Given the description of an element on the screen output the (x, y) to click on. 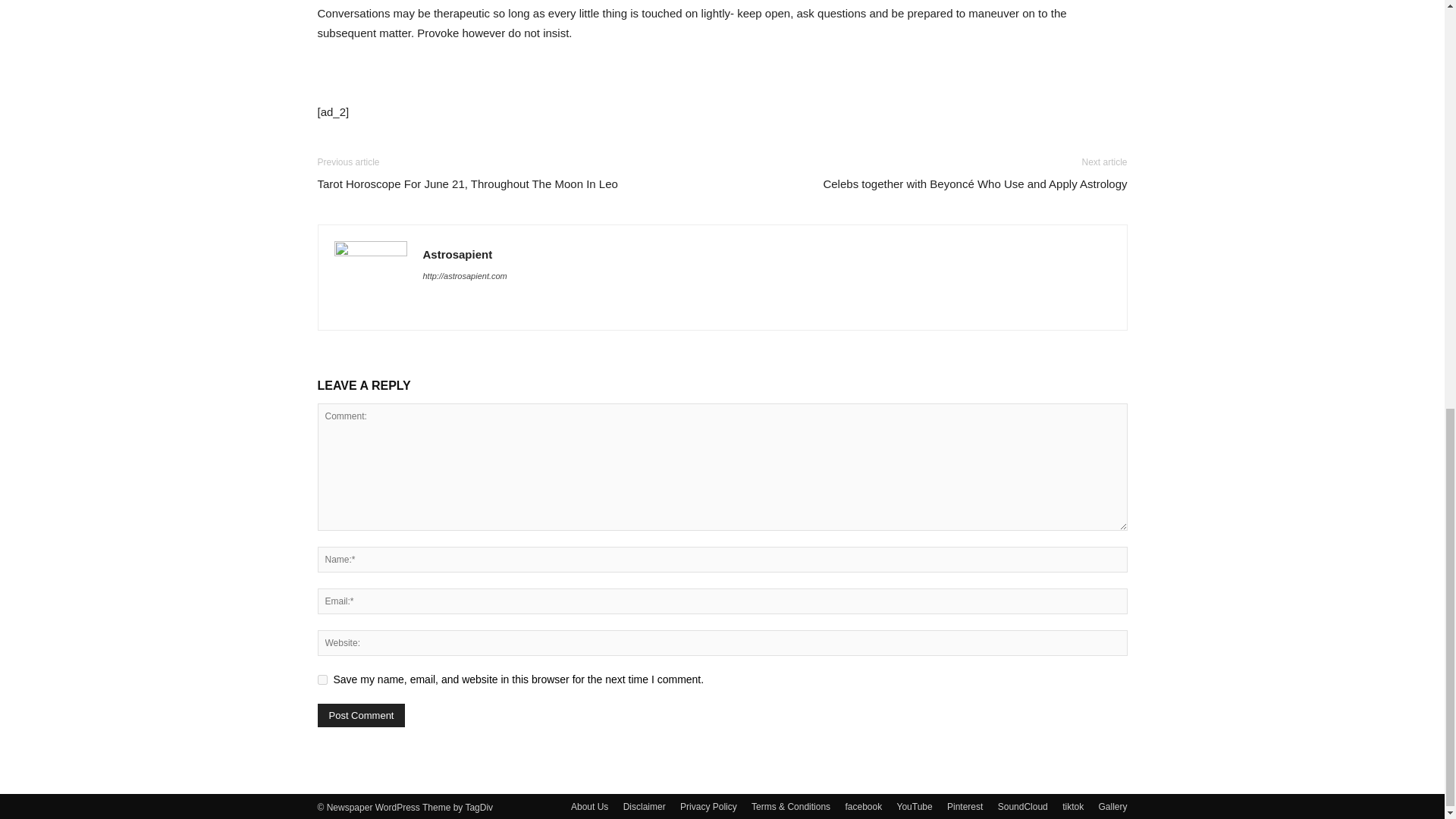
Post Comment (360, 715)
Astrosapient (458, 254)
tiktok (1072, 807)
yes (321, 679)
facebook (863, 807)
Gallery (1111, 807)
Post Comment (360, 715)
Pinterest (964, 807)
YouTube (914, 807)
About Us (589, 807)
Tarot Horoscope For June 21, Throughout The Moon In Leo (467, 183)
Disclaimer (644, 807)
Privacy Policy (707, 807)
SoundCloud (1022, 807)
